Given the description of an element on the screen output the (x, y) to click on. 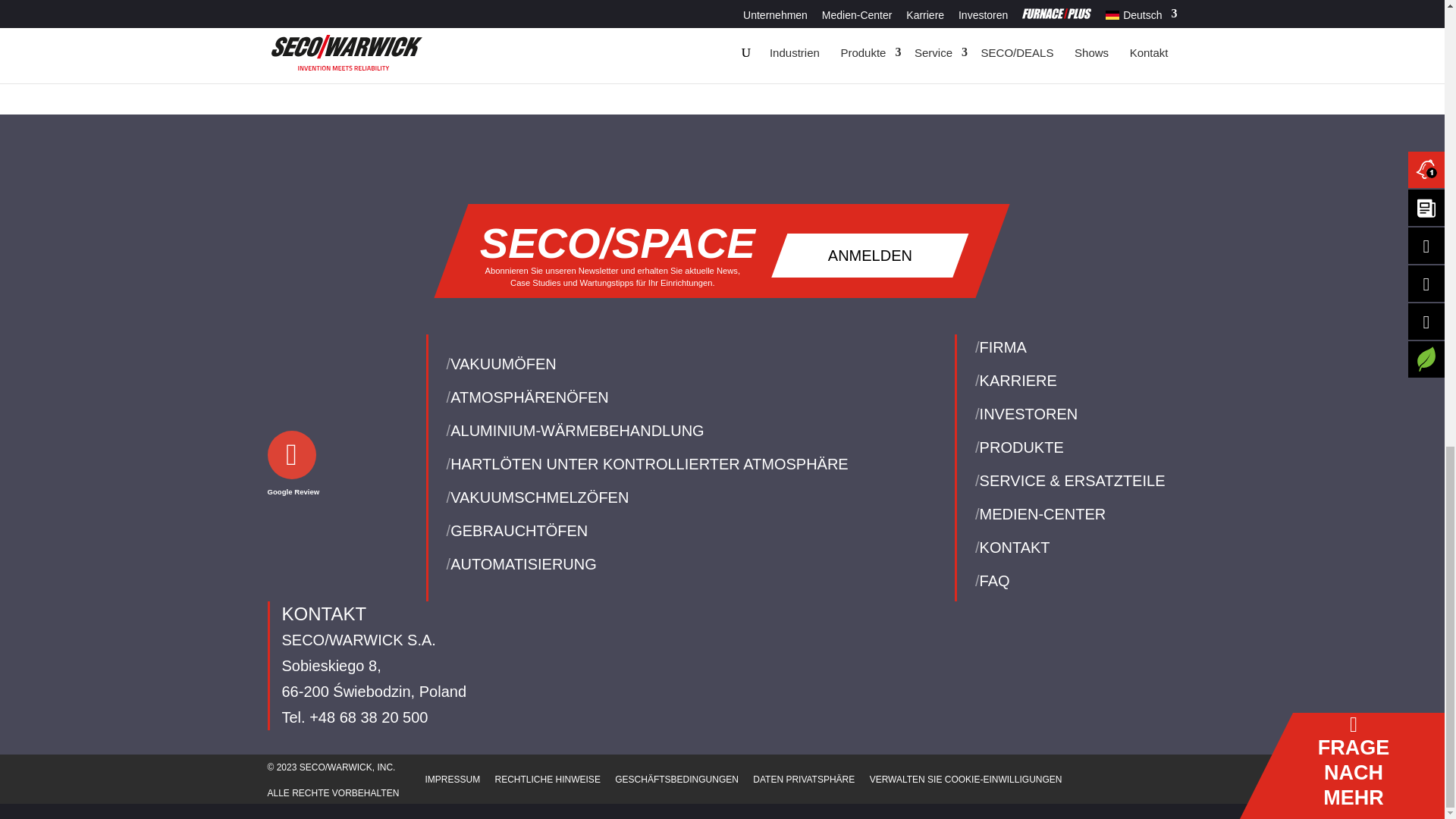
ANMELDEN (870, 255)
Google Review (292, 478)
